Given the description of an element on the screen output the (x, y) to click on. 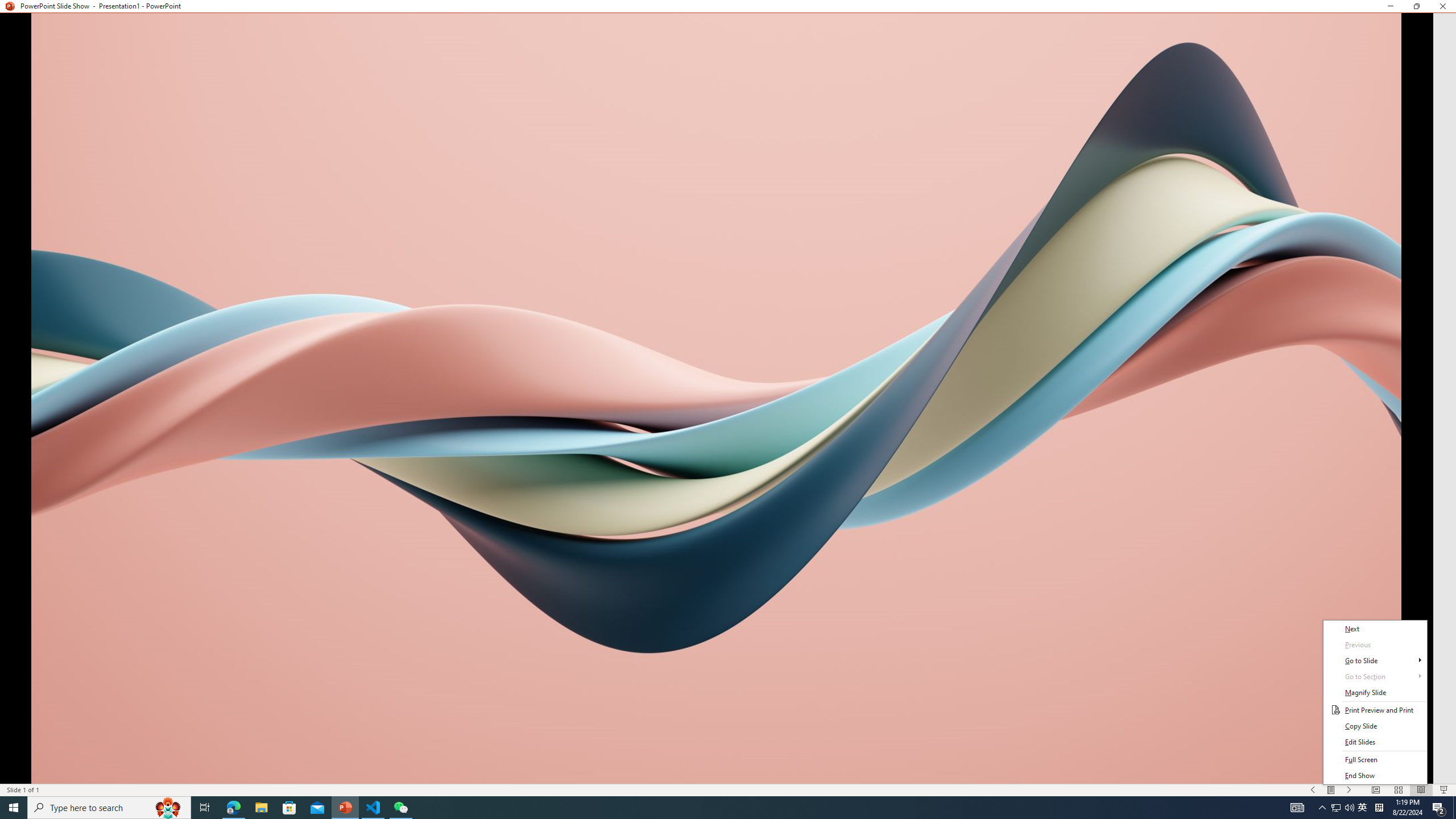
Go to Slide (1374, 660)
Full Screen (1374, 759)
Class: NetUITWMenuContainer (1374, 701)
Copy Slide (1374, 726)
Context Menu (1374, 701)
